Given the description of an element on the screen output the (x, y) to click on. 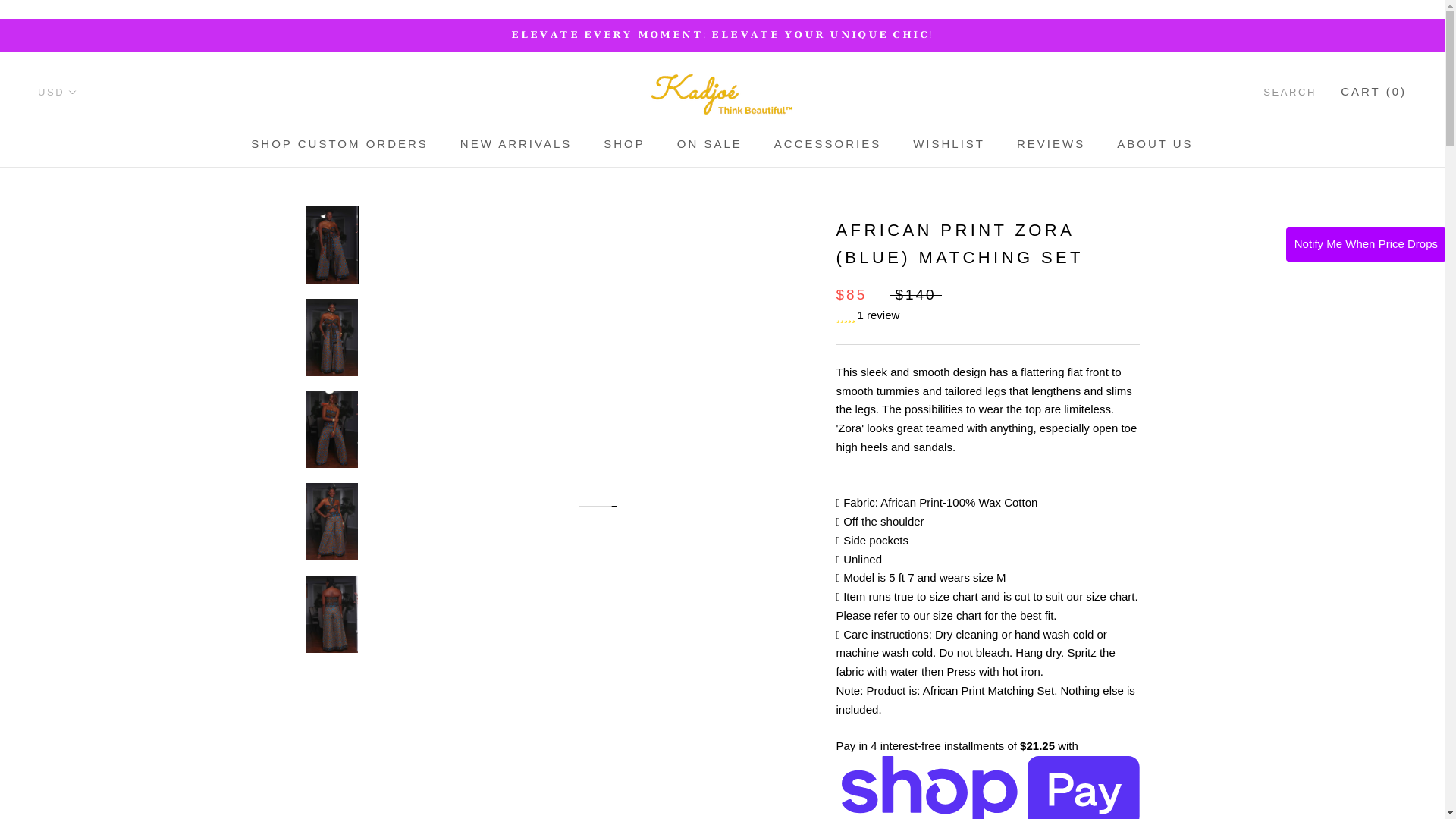
Currency selector (339, 143)
SHOP (57, 91)
ACCESSORIES (709, 143)
